Given the description of an element on the screen output the (x, y) to click on. 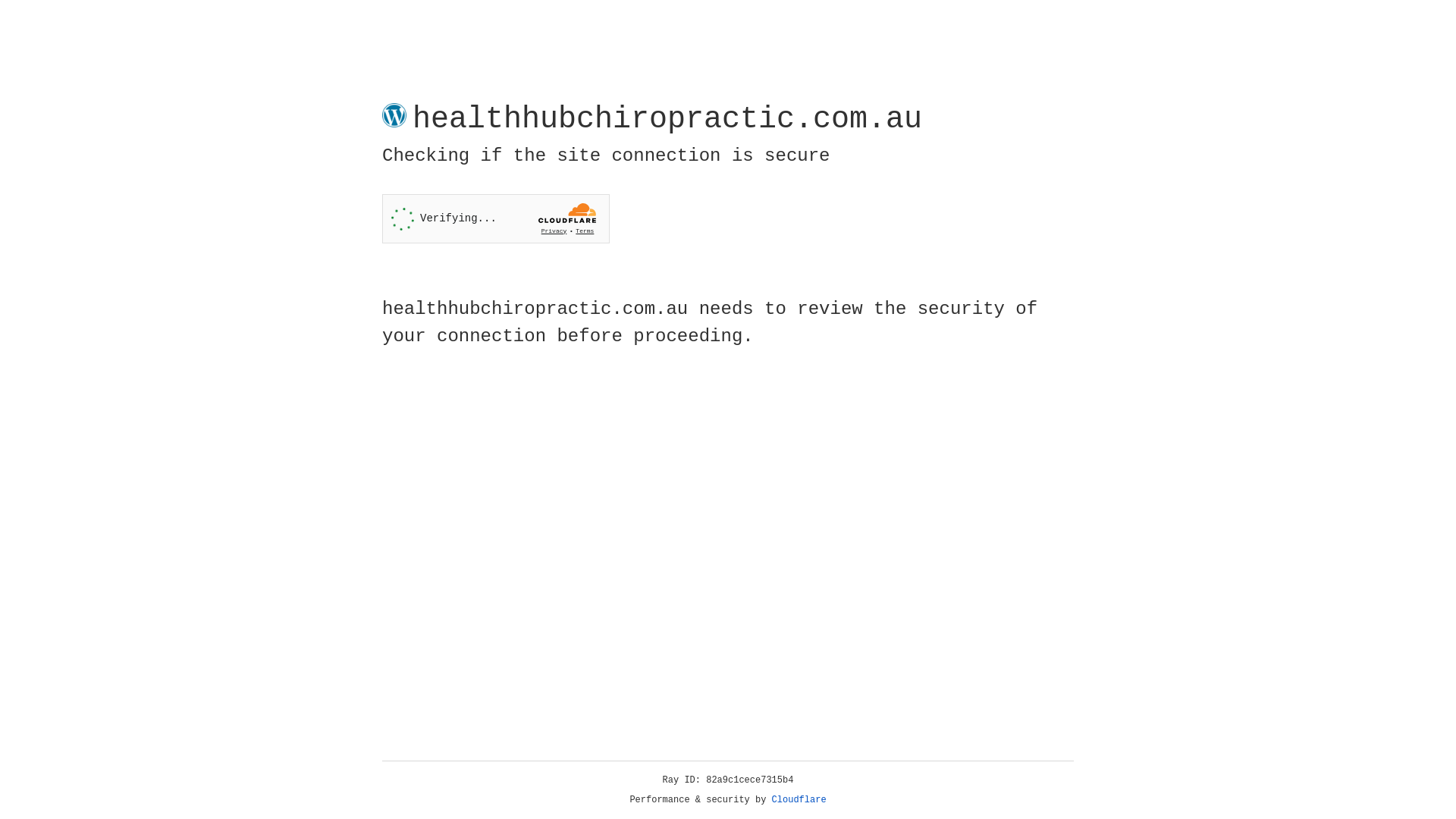
Cloudflare Element type: text (798, 799)
Widget containing a Cloudflare security challenge Element type: hover (495, 218)
